Given the description of an element on the screen output the (x, y) to click on. 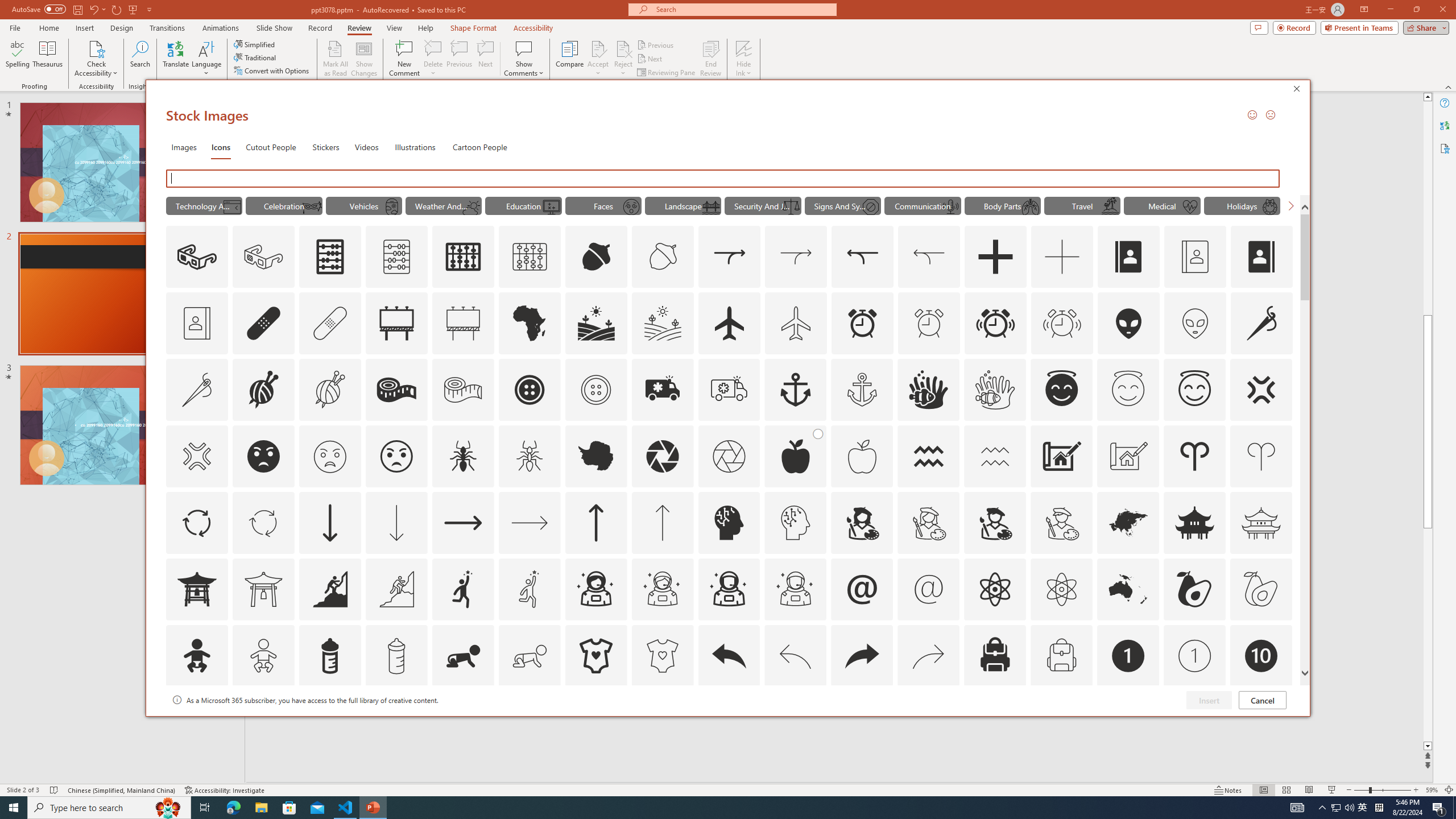
"Vehicles" Icons. (363, 205)
AutomationID: Icons_ArrowCircle_M (263, 522)
AutomationID: Icons_PartialSun_M (471, 206)
AutomationID: Icons_HeartWithPulse_M (1190, 206)
AutomationID: Icons_Architecture (1061, 455)
Accept (598, 58)
